Given the description of an element on the screen output the (x, y) to click on. 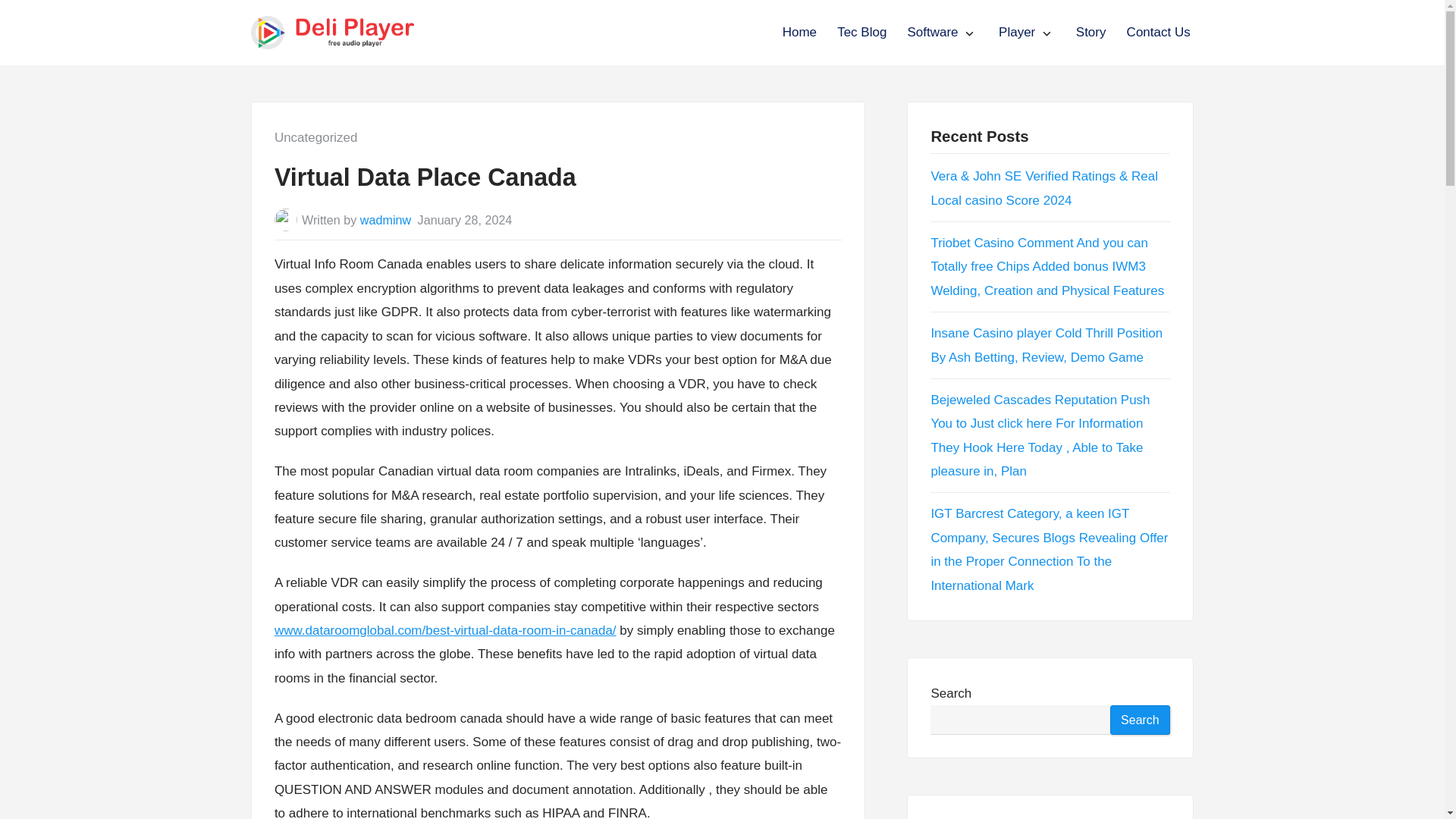
Story (1090, 32)
Contact Us (1158, 32)
wadminw (384, 219)
Home (799, 32)
Home (799, 32)
Tec Blog (861, 32)
Software (932, 32)
Software (932, 32)
